Given the description of an element on the screen output the (x, y) to click on. 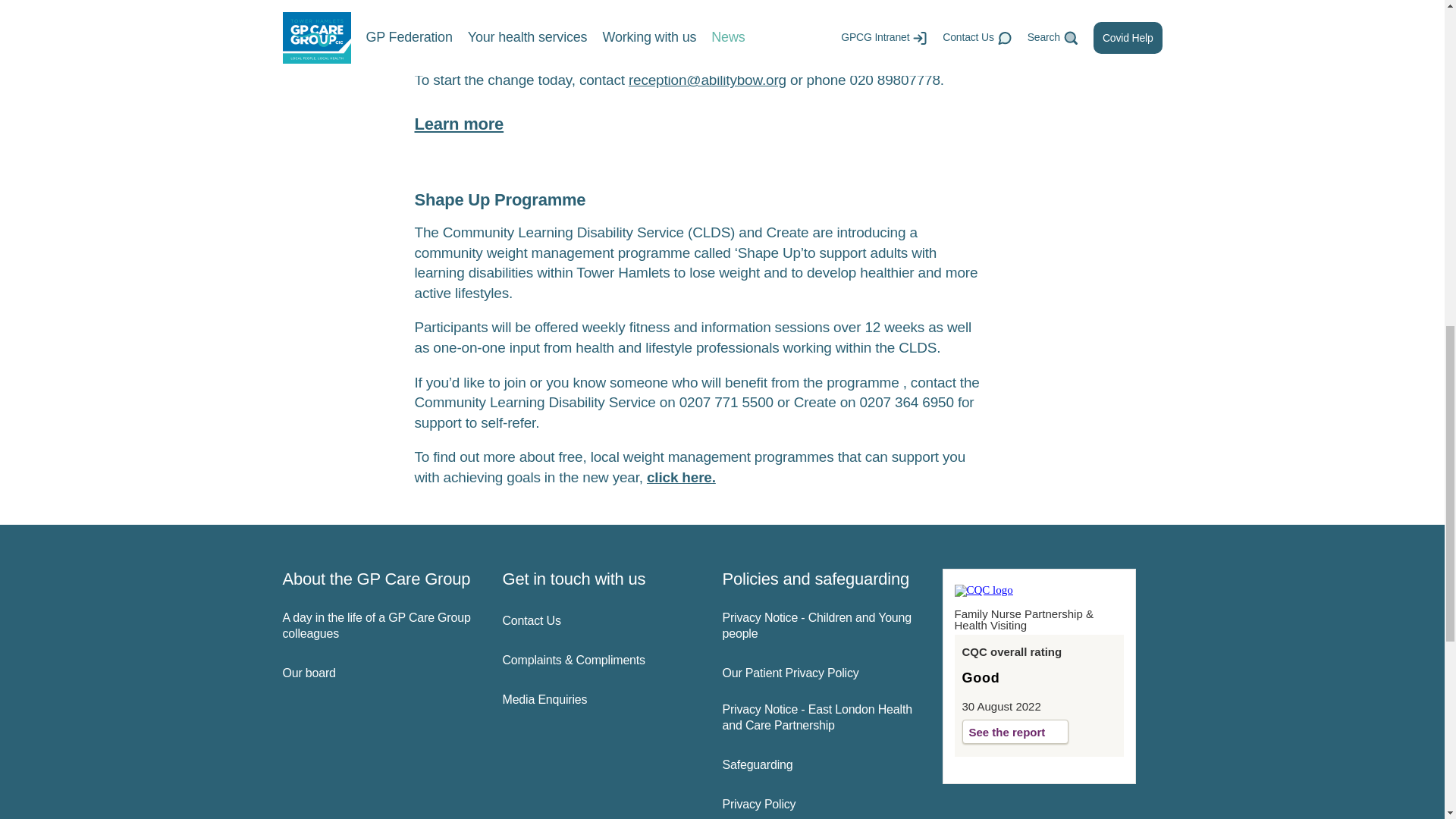
Our board (379, 673)
Privacy Notice - Children and Young people (818, 626)
Safeguarding (818, 765)
Privacy Policy (818, 804)
CQC Logo (982, 589)
click here. (681, 477)
Contact Us (598, 621)
Learn more (458, 123)
See the report (1014, 731)
Media Enquiries (598, 700)
A day in the life of a GP Care Group colleagues (379, 626)
Privacy Notice - East London Health and Care Partnership (818, 717)
Our Patient Privacy Policy (818, 673)
